Given the description of an element on the screen output the (x, y) to click on. 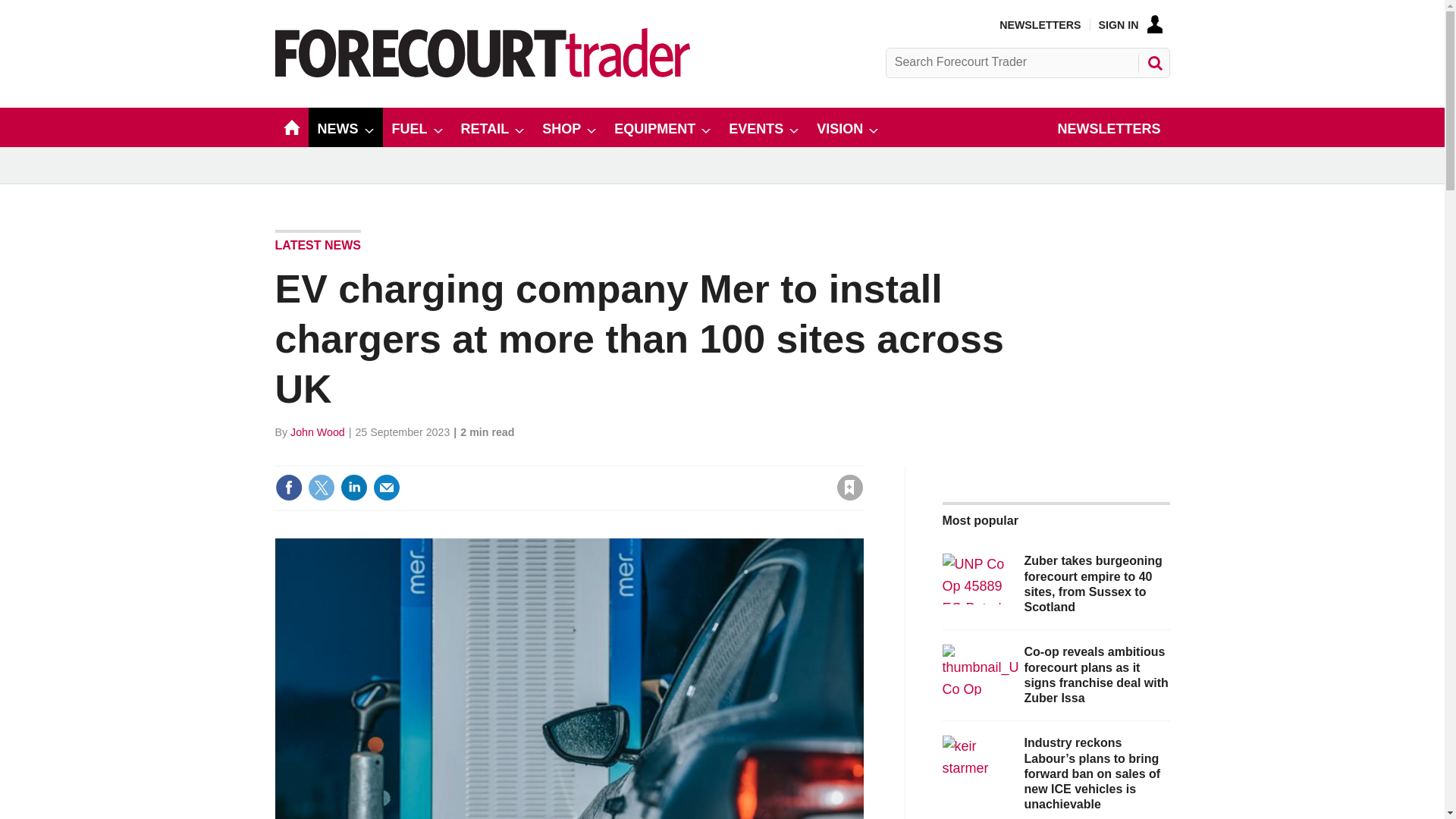
Share this on Linked in (352, 487)
Share this on Facebook (288, 487)
Email this article (386, 487)
SIGN IN (1130, 24)
Site name (482, 72)
NEWSLETTERS (1039, 24)
Share this on Twitter (320, 487)
SEARCH (1153, 62)
